Given the description of an element on the screen output the (x, y) to click on. 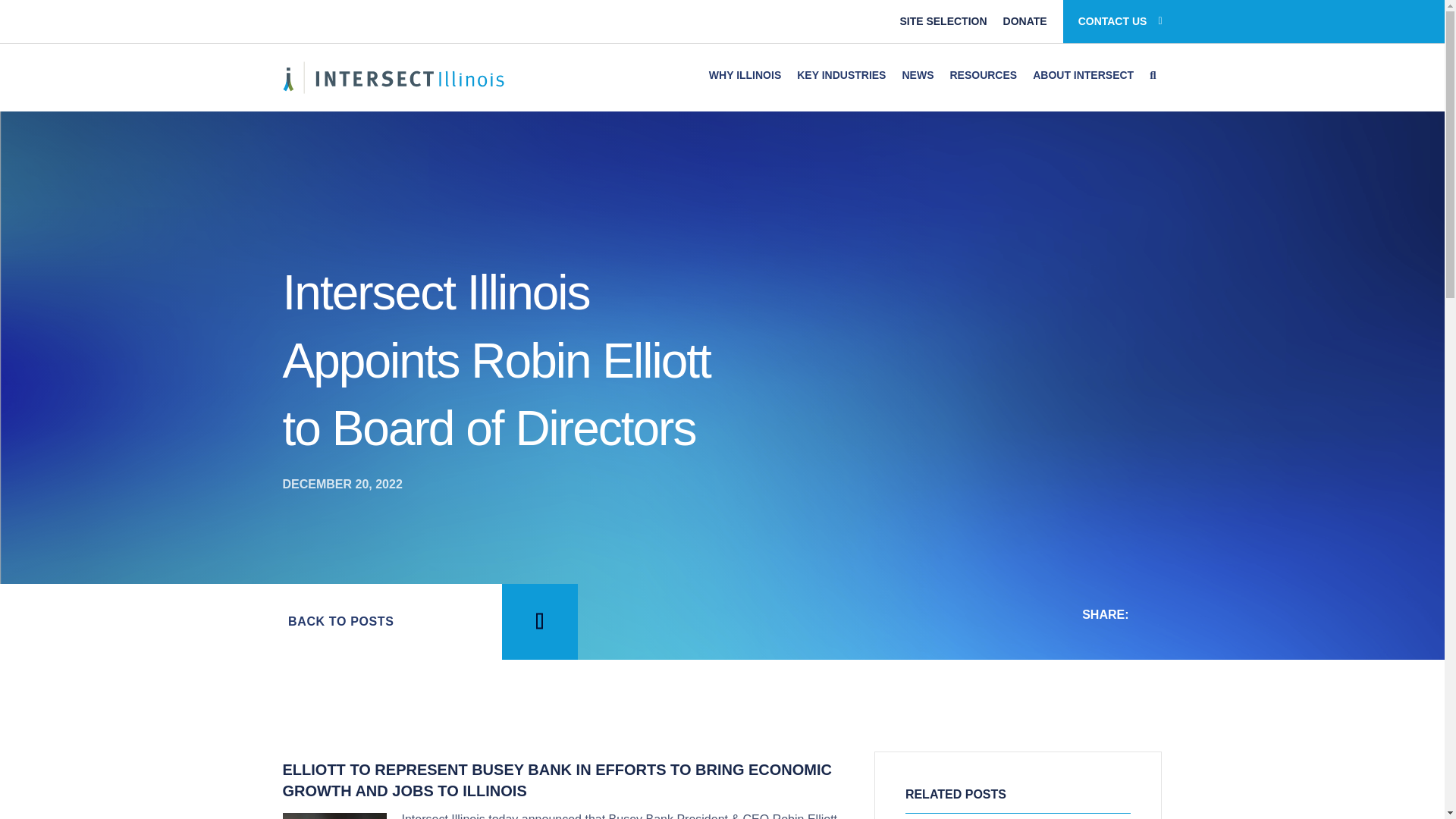
NEWS (916, 74)
SITE SELECTION (942, 21)
DONATE (1024, 21)
logo-onwhite (393, 77)
WHY ILLINOIS (745, 74)
CONTACT US (1119, 21)
ABOUT INTERSECT (1083, 74)
KEY INDUSTRIES (841, 74)
RESOURCES (983, 74)
